Given the description of an element on the screen output the (x, y) to click on. 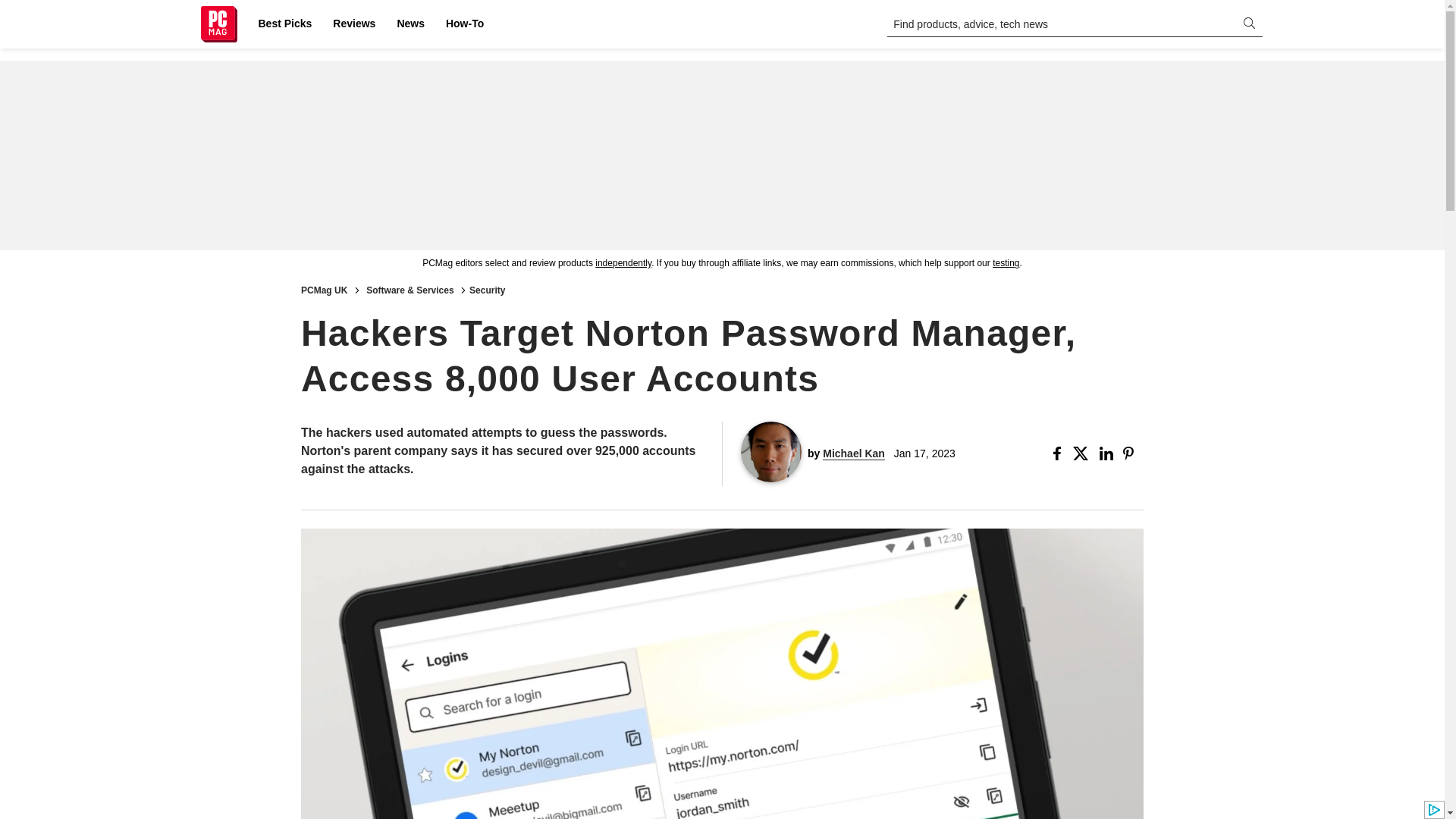
Share this Story on Pinterest (1132, 453)
Share this Story on Linkedin (1107, 453)
Share this Story on Facebook (1059, 453)
Share this Story on X (1083, 453)
Best Picks (284, 24)
